Given the description of an element on the screen output the (x, y) to click on. 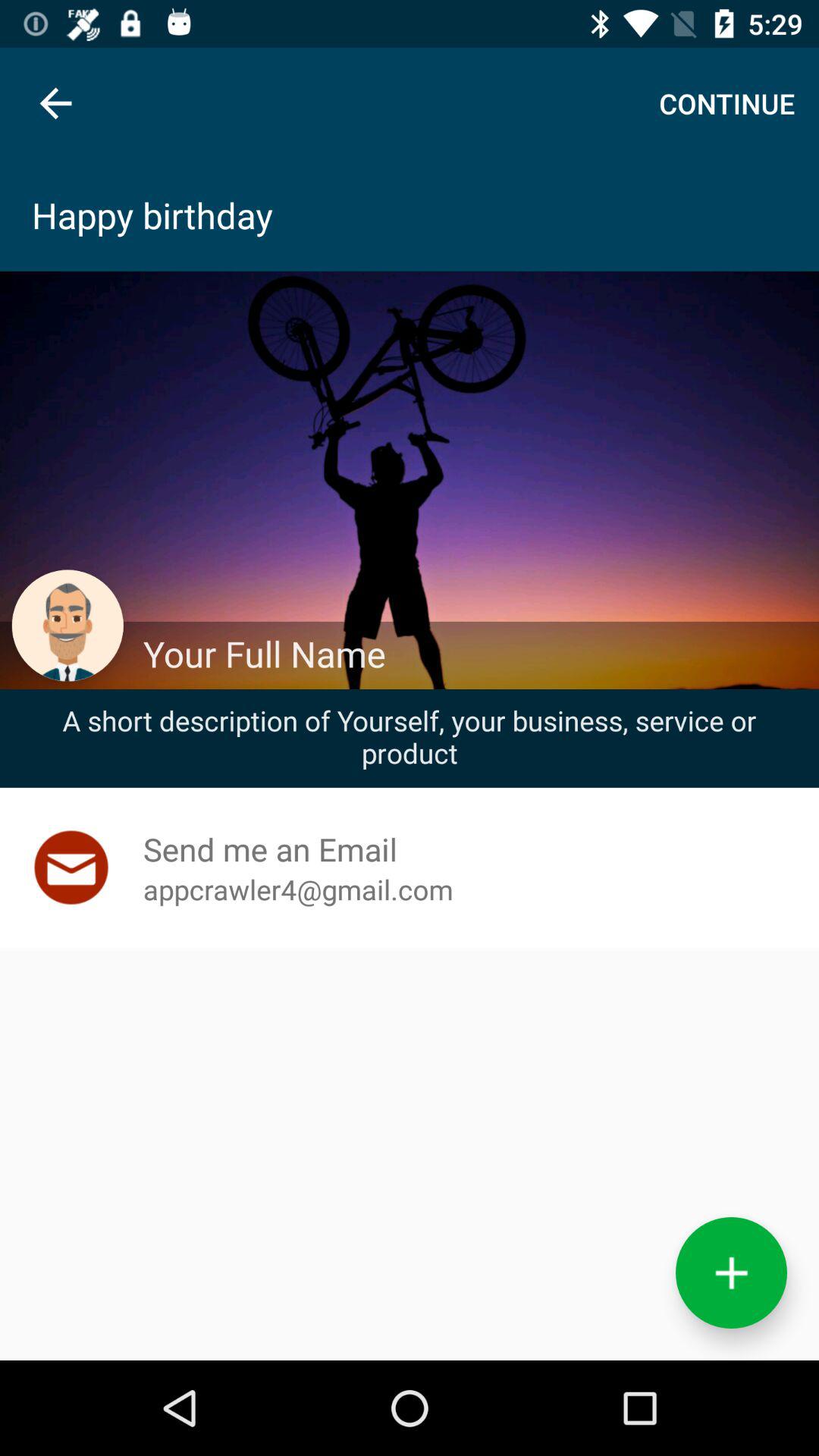
swipe until the a short description item (409, 736)
